Given the description of an element on the screen output the (x, y) to click on. 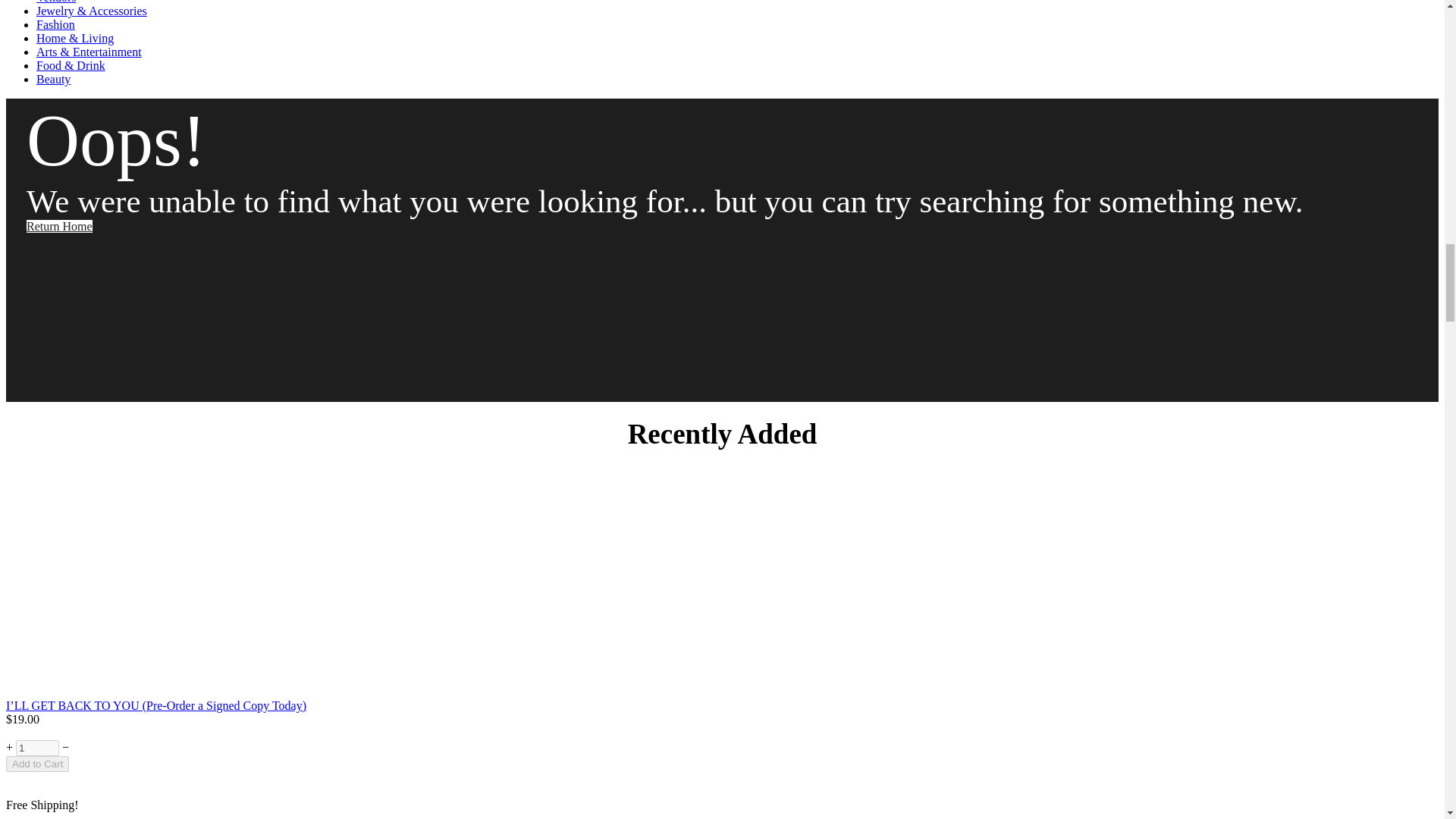
1 (37, 747)
